Given the description of an element on the screen output the (x, y) to click on. 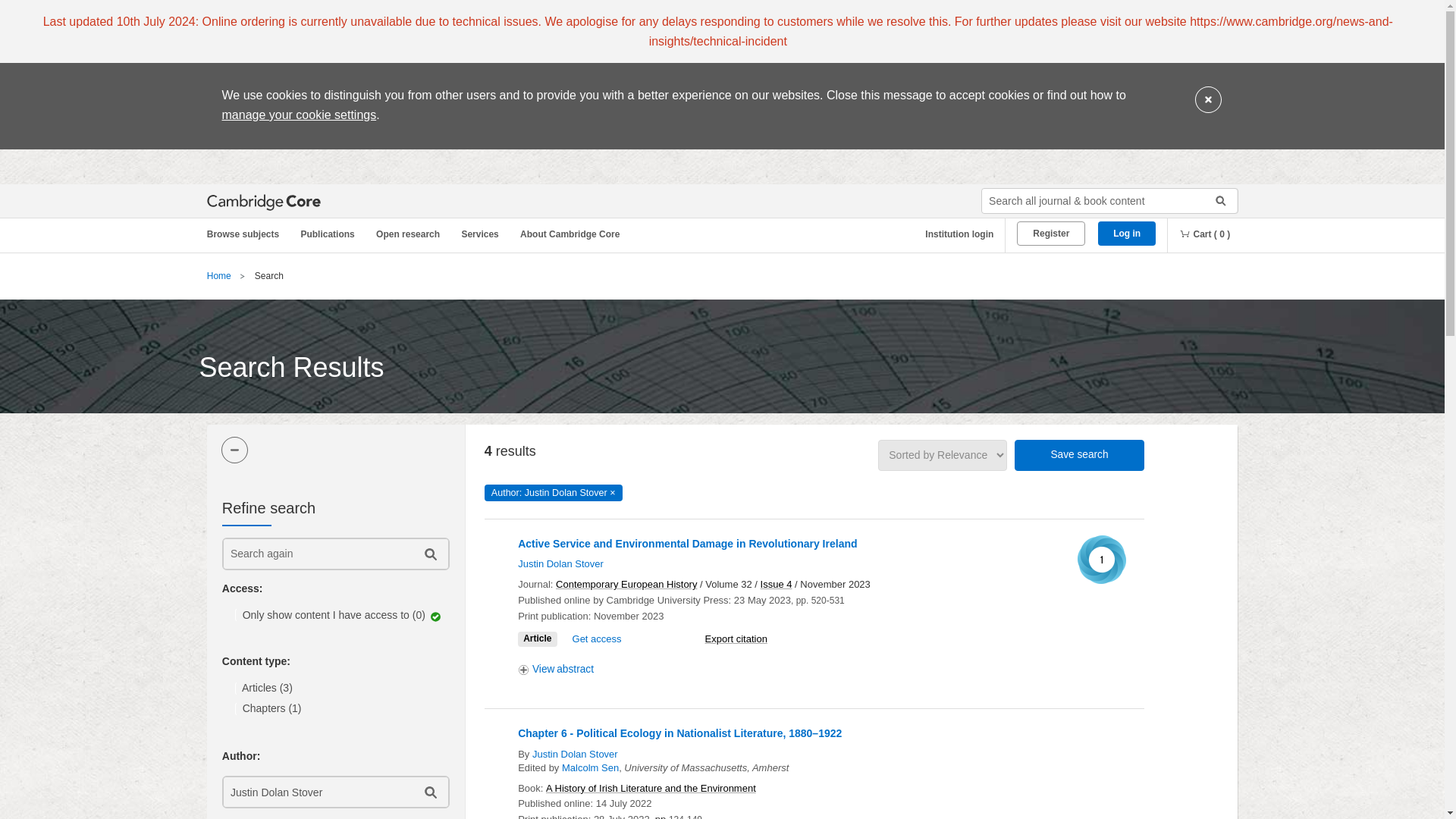
Submit refine search (429, 553)
Open research (410, 234)
Submit search (1214, 200)
Register (1050, 233)
Institution login (953, 234)
manage your cookie settings (298, 114)
About Cambridge Core (572, 234)
Submit author search (429, 791)
Justin Dolan Stover (316, 791)
Browse subjects (250, 234)
Close cookie message (1208, 99)
Submit author search (429, 791)
Services (482, 234)
Publications (330, 234)
Submit search (1214, 200)
